Given the description of an element on the screen output the (x, y) to click on. 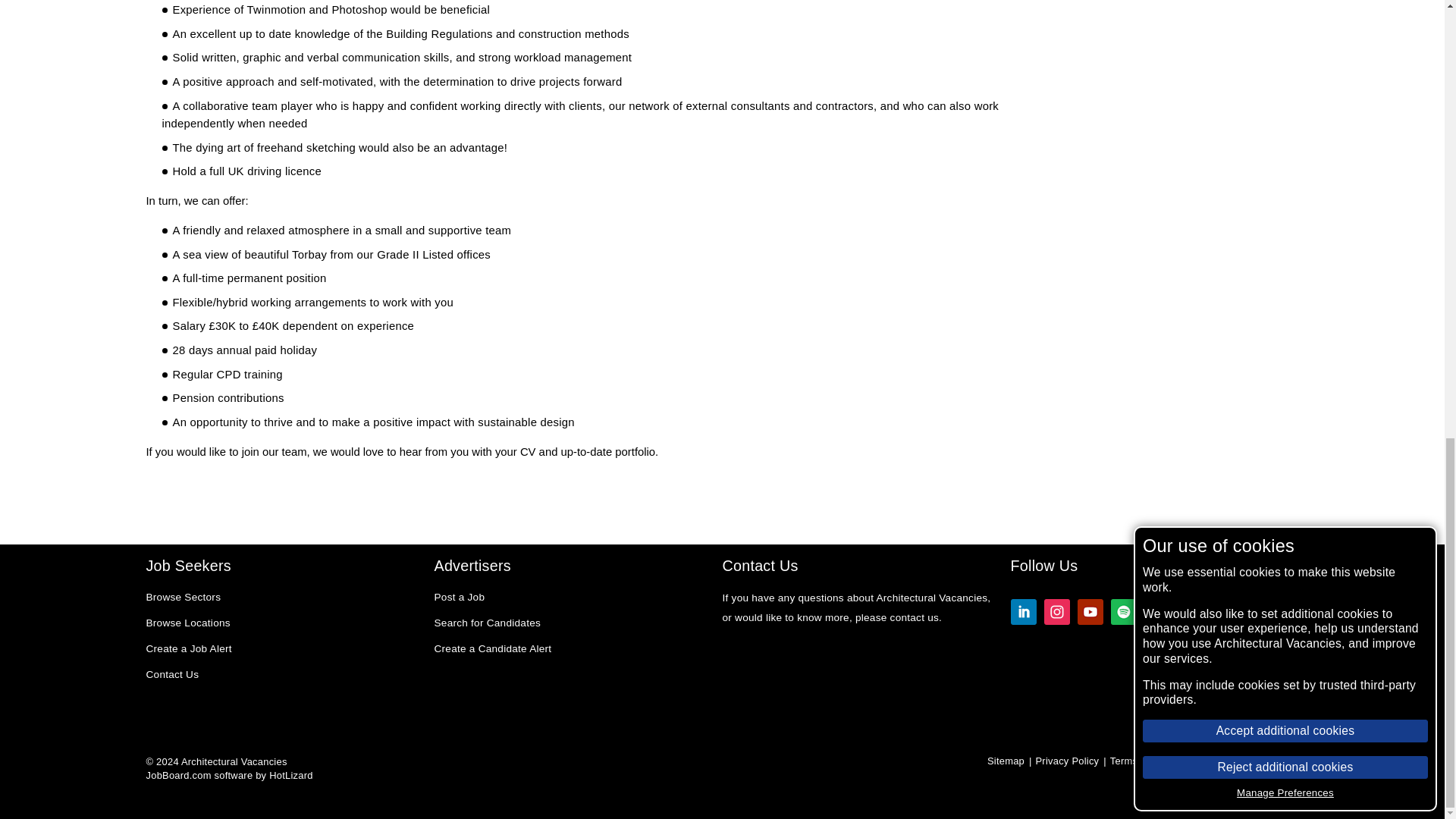
contact us (914, 617)
Contact Us (171, 675)
Search for Candidates (486, 623)
Post a Job (458, 598)
Follow us on LinkedIn (1022, 613)
Create a Candidate Alert (492, 649)
Create a Job Alert (188, 649)
Browse Locations (187, 623)
Follow us on Instagram (1055, 613)
Browse Sectors (183, 598)
Follow us on Spotify (1122, 613)
Follow us on YouTube (1089, 613)
